Given the description of an element on the screen output the (x, y) to click on. 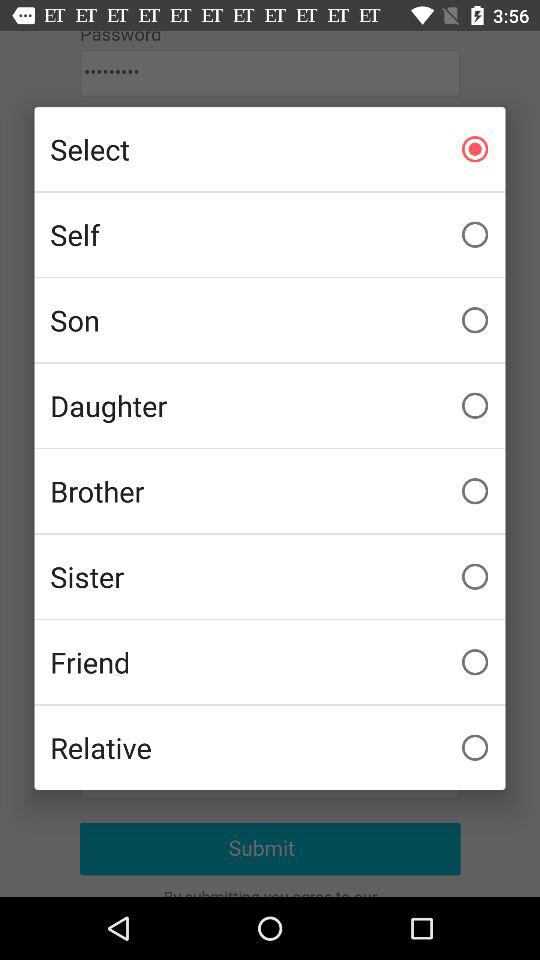
swipe to select checkbox (269, 149)
